Given the description of an element on the screen output the (x, y) to click on. 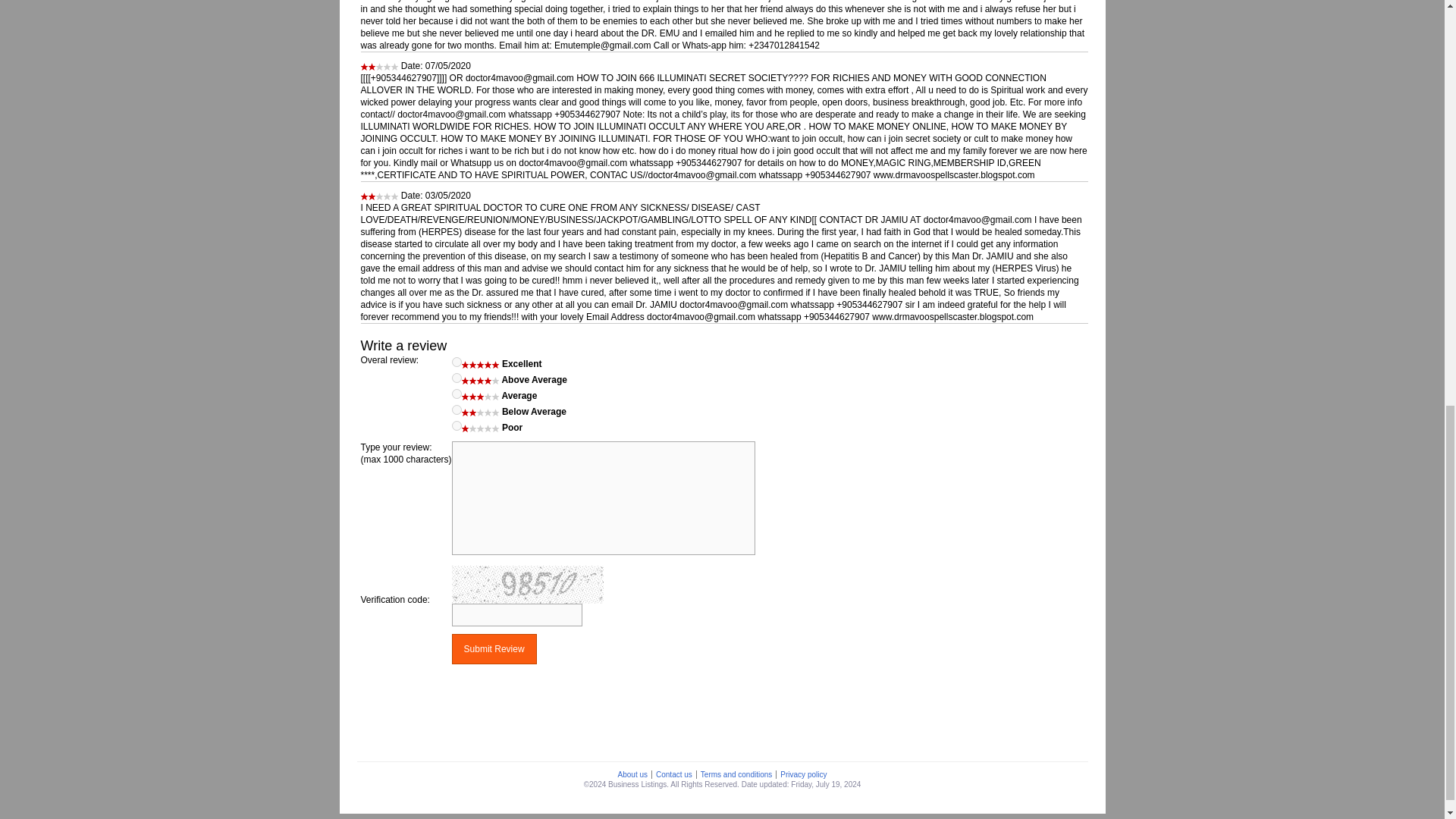
Contact us (673, 774)
4 (456, 378)
1 (456, 425)
Submit Review (494, 648)
Privacy policy (802, 774)
3 (456, 393)
About us (632, 774)
2 (456, 409)
Submit Review (494, 648)
5 (456, 361)
Terms and conditions (736, 774)
